Given the description of an element on the screen output the (x, y) to click on. 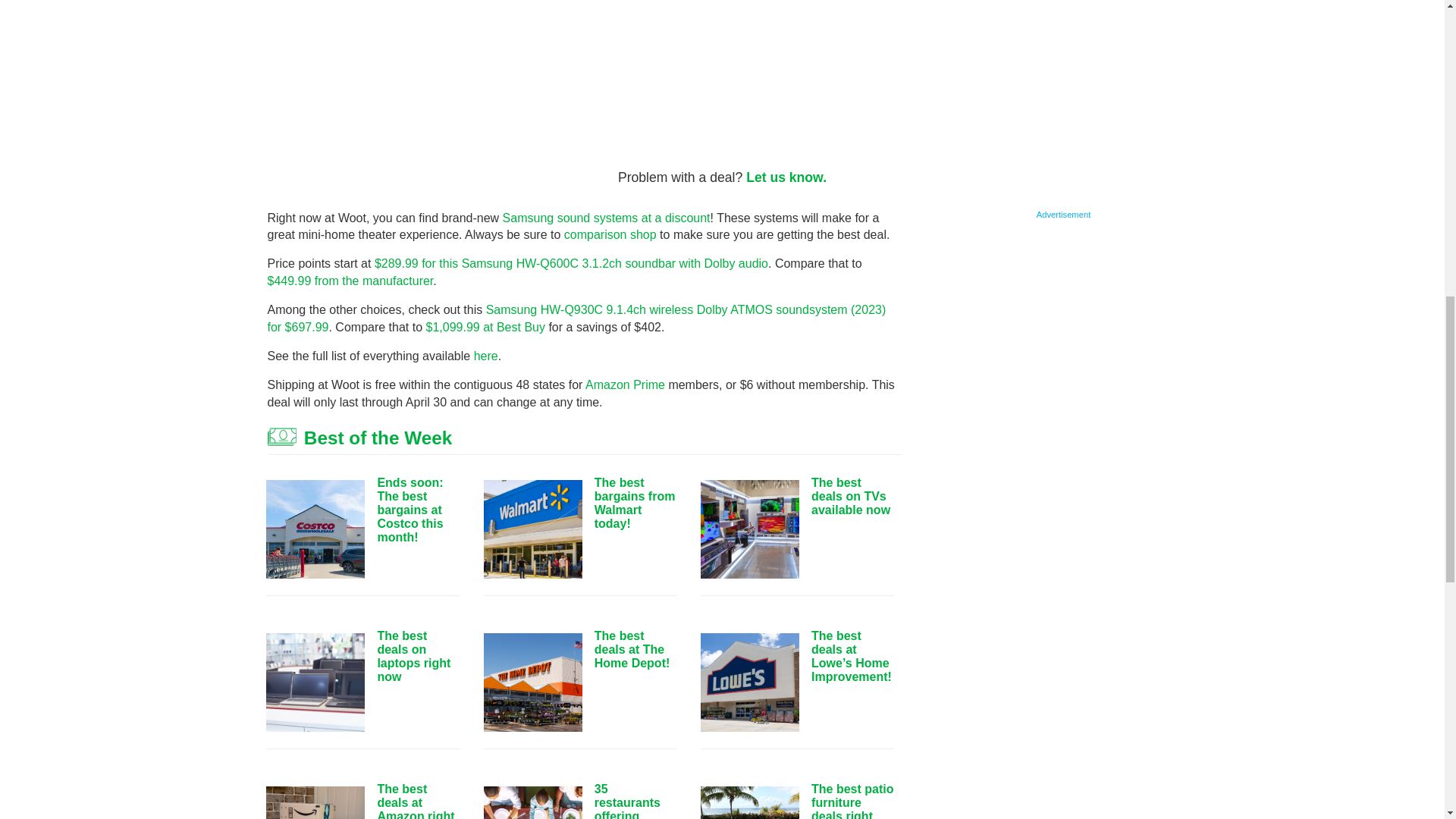
The best deals on laptops right now (315, 682)
Ends soon: The best bargains at Costco this month! (315, 528)
The best deals on TVs available now (749, 528)
The best bargains from Walmart today! (532, 528)
Contact Us (786, 177)
The best deals at Amazon right now! (315, 802)
The best deals at The Home Depot! (532, 682)
